Given the description of an element on the screen output the (x, y) to click on. 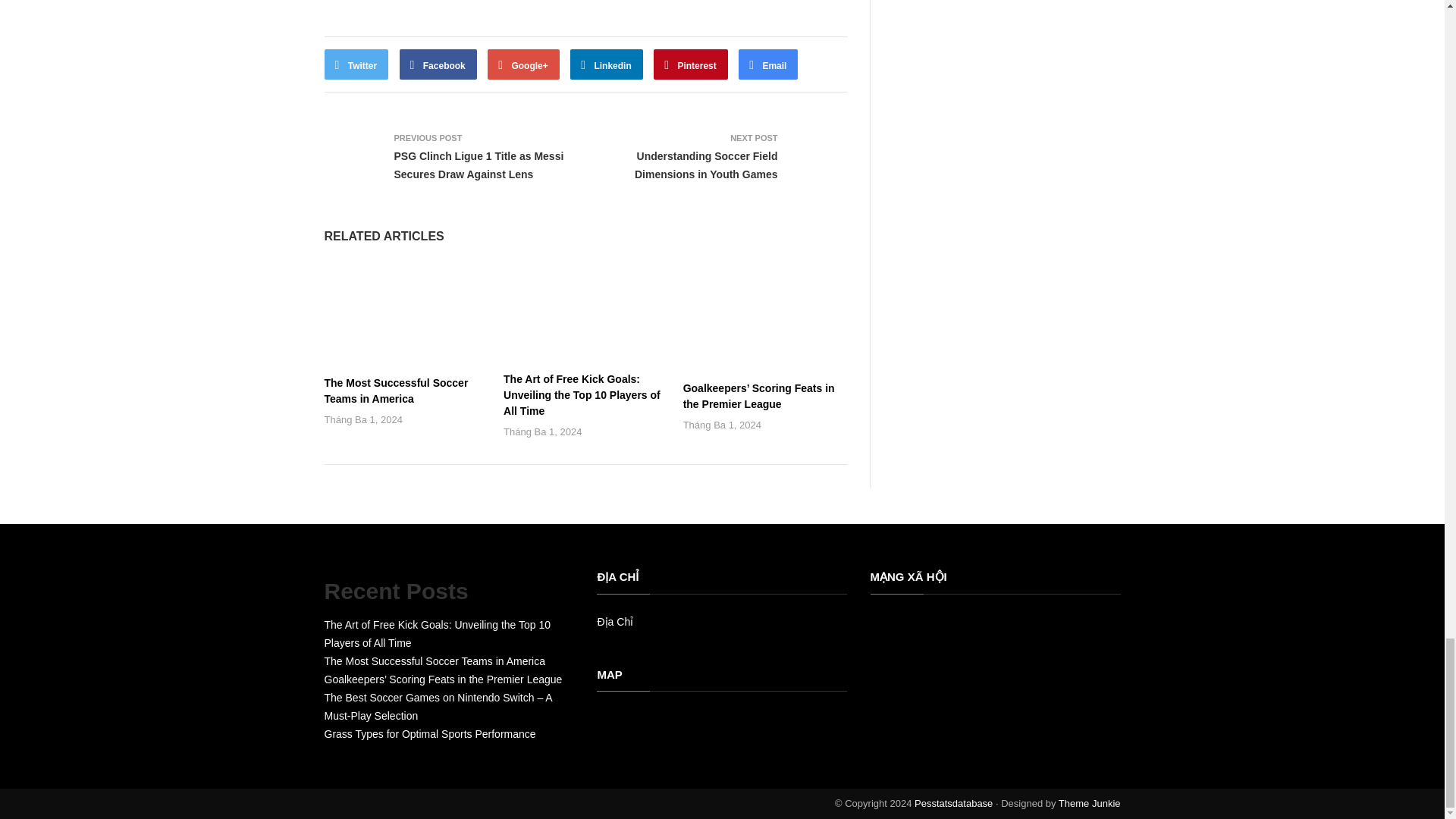
Understanding Soccer Field Dimensions in Youth Games (705, 164)
Twitter (356, 64)
Pinterest (690, 64)
Facebook (437, 64)
PSG Clinch Ligue 1 Title as Messi Secures Draw Against Lens (479, 164)
Linkedin (606, 64)
Email (767, 64)
